Given the description of an element on the screen output the (x, y) to click on. 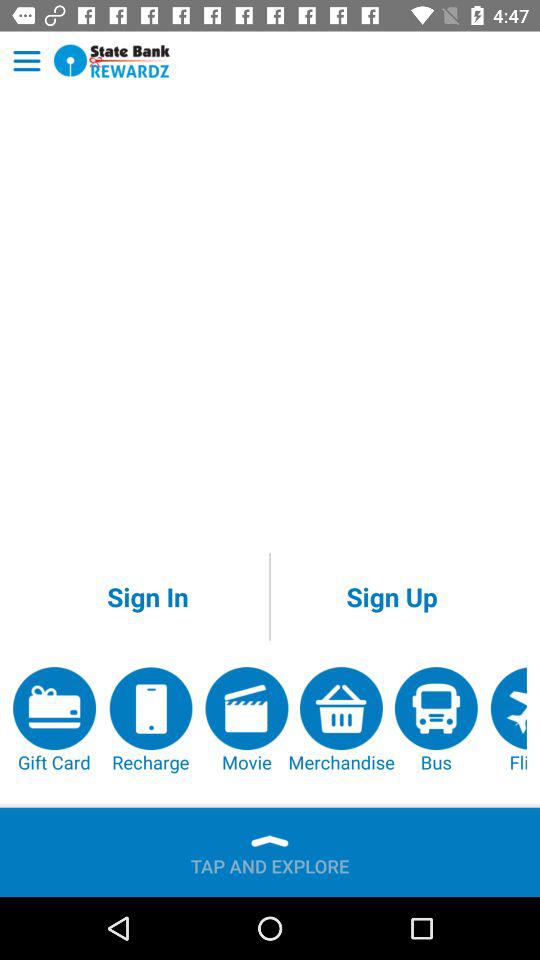
flip until the movie (246, 720)
